Given the description of an element on the screen output the (x, y) to click on. 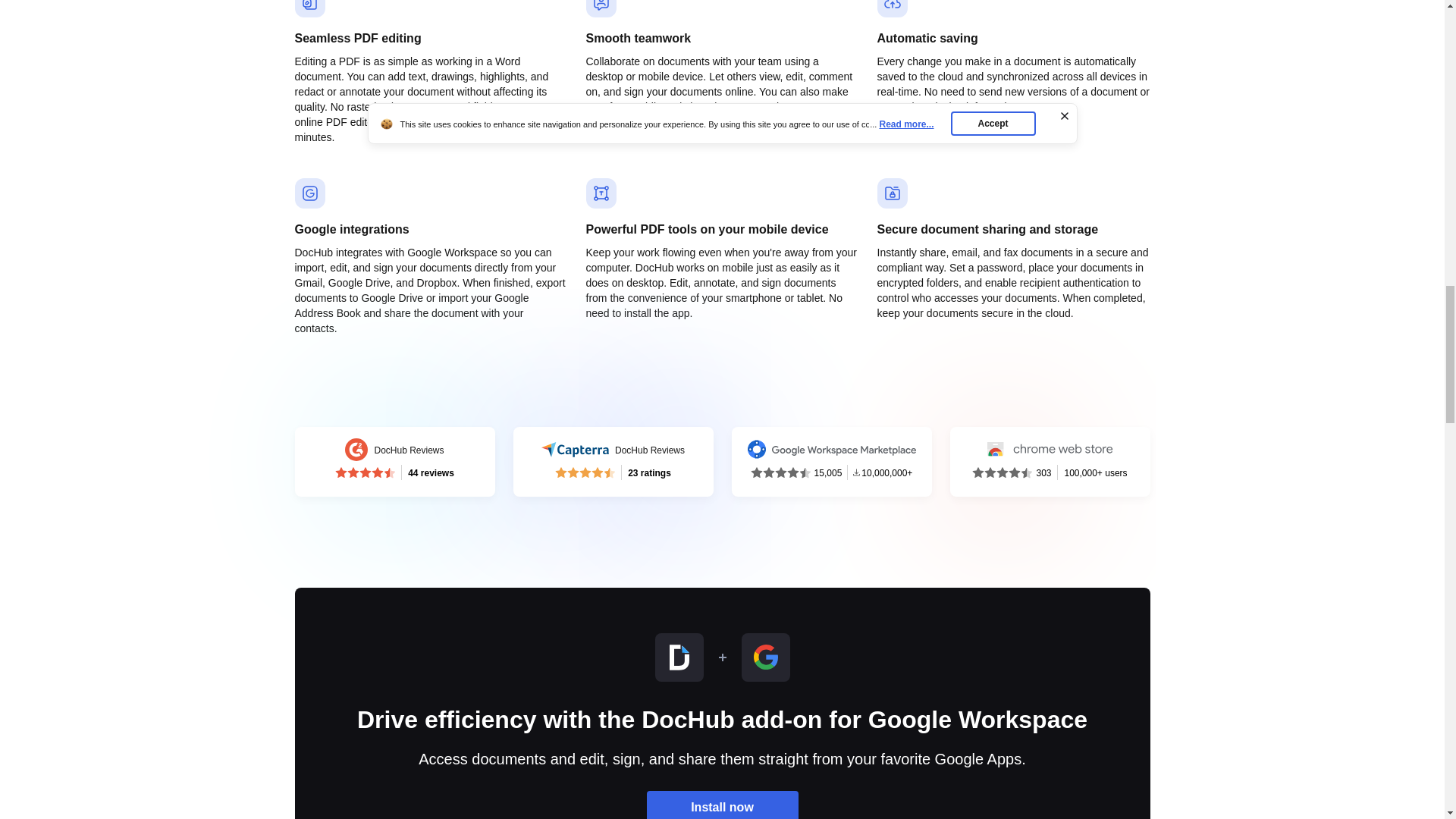
Install now (394, 461)
